Given the description of an element on the screen output the (x, y) to click on. 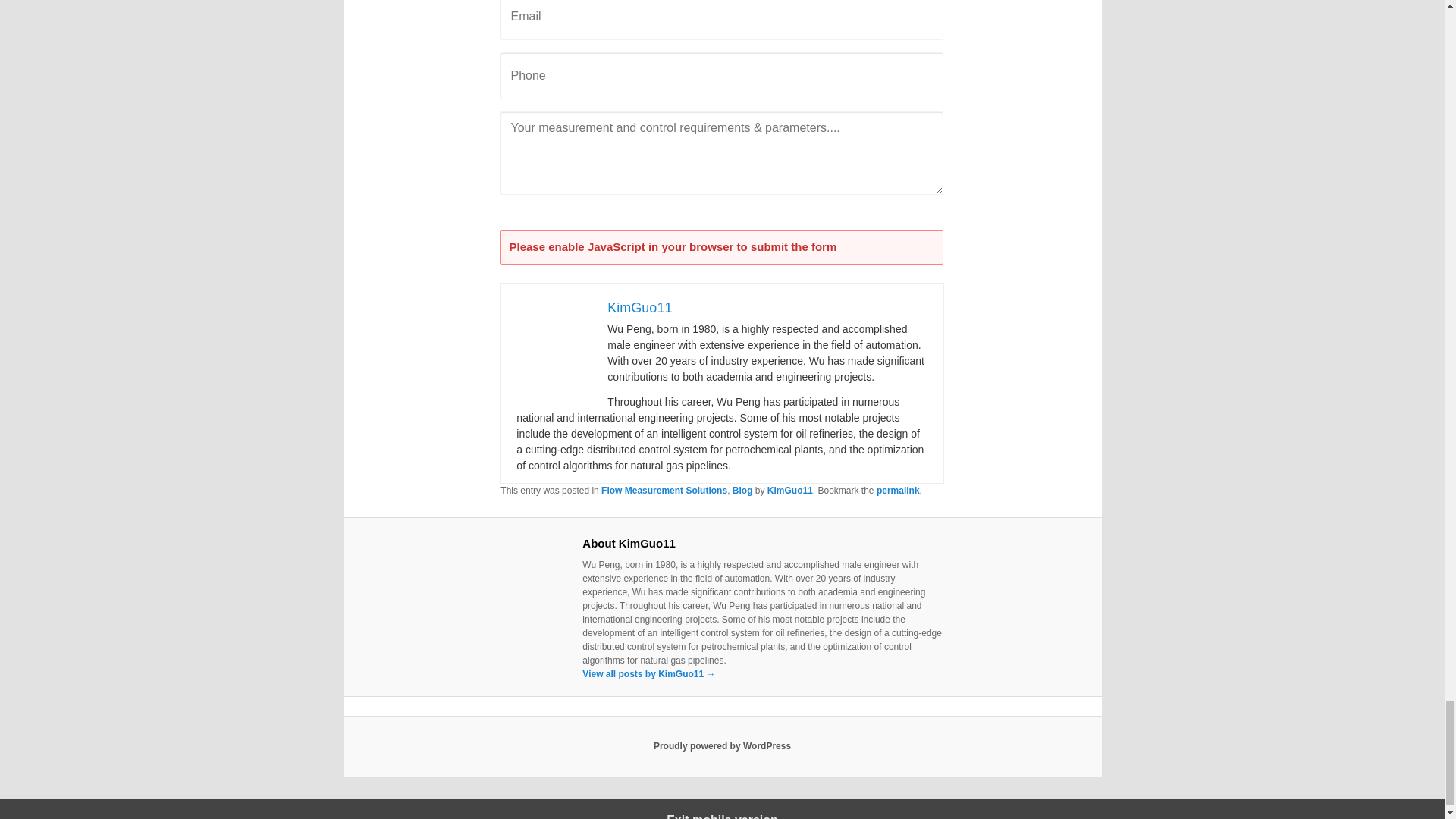
Semantic Personal Publishing Platform (721, 746)
